Given the description of an element on the screen output the (x, y) to click on. 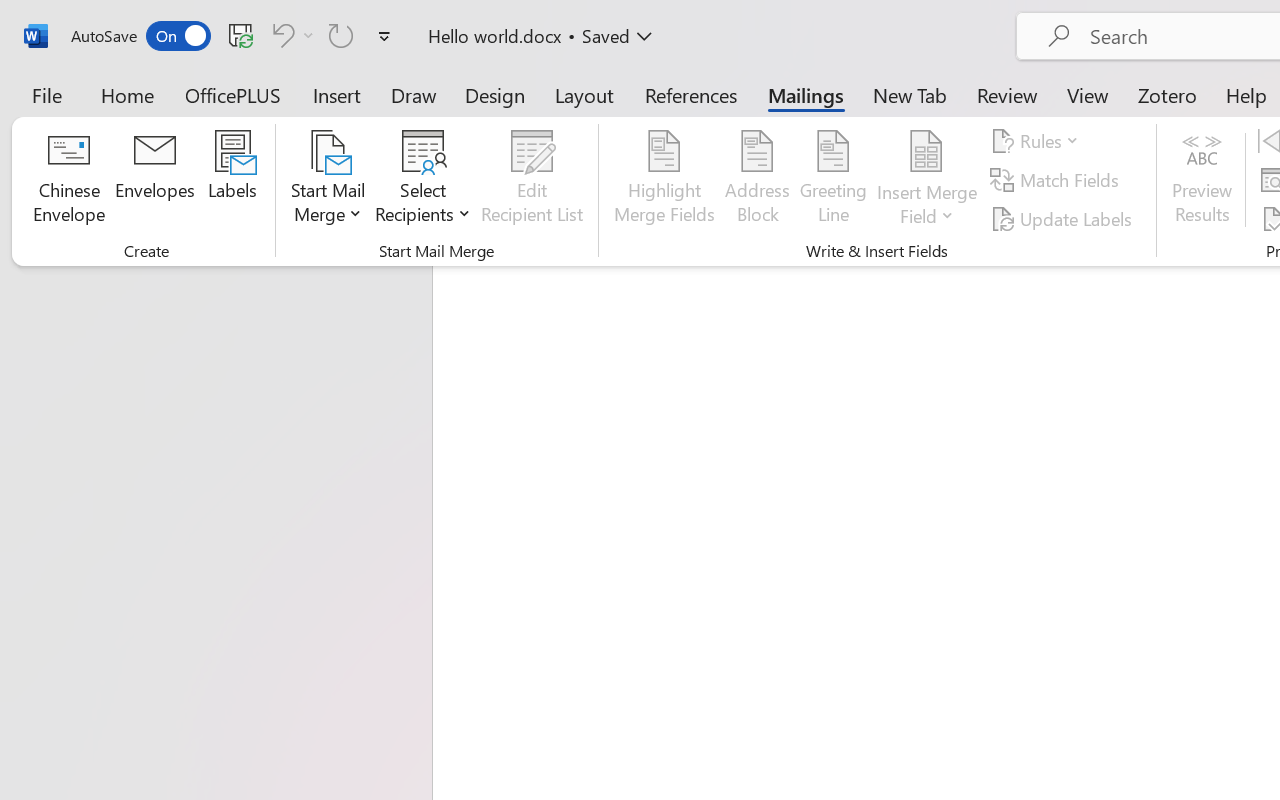
Customize Quick Access Toolbar (384, 35)
Can't Undo (290, 35)
File Tab (46, 94)
More Options (308, 35)
New Tab (909, 94)
OfficePLUS (233, 94)
Can't Repeat (341, 35)
Can't Undo (280, 35)
Draw (413, 94)
Design (495, 94)
Review (1007, 94)
Layout (584, 94)
Zotero (1166, 94)
